Given the description of an element on the screen output the (x, y) to click on. 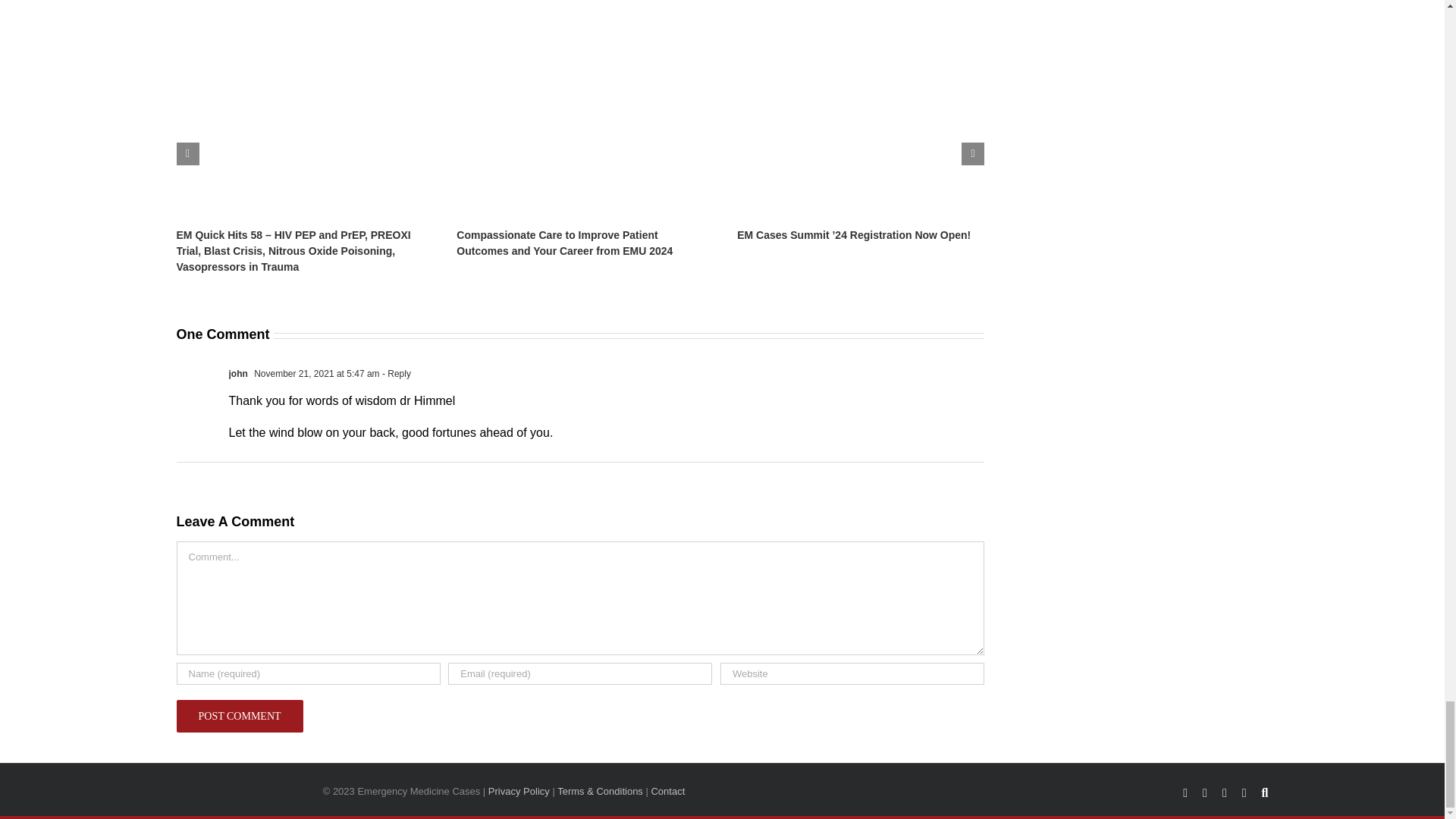
Post Comment (239, 716)
